Given the description of an element on the screen output the (x, y) to click on. 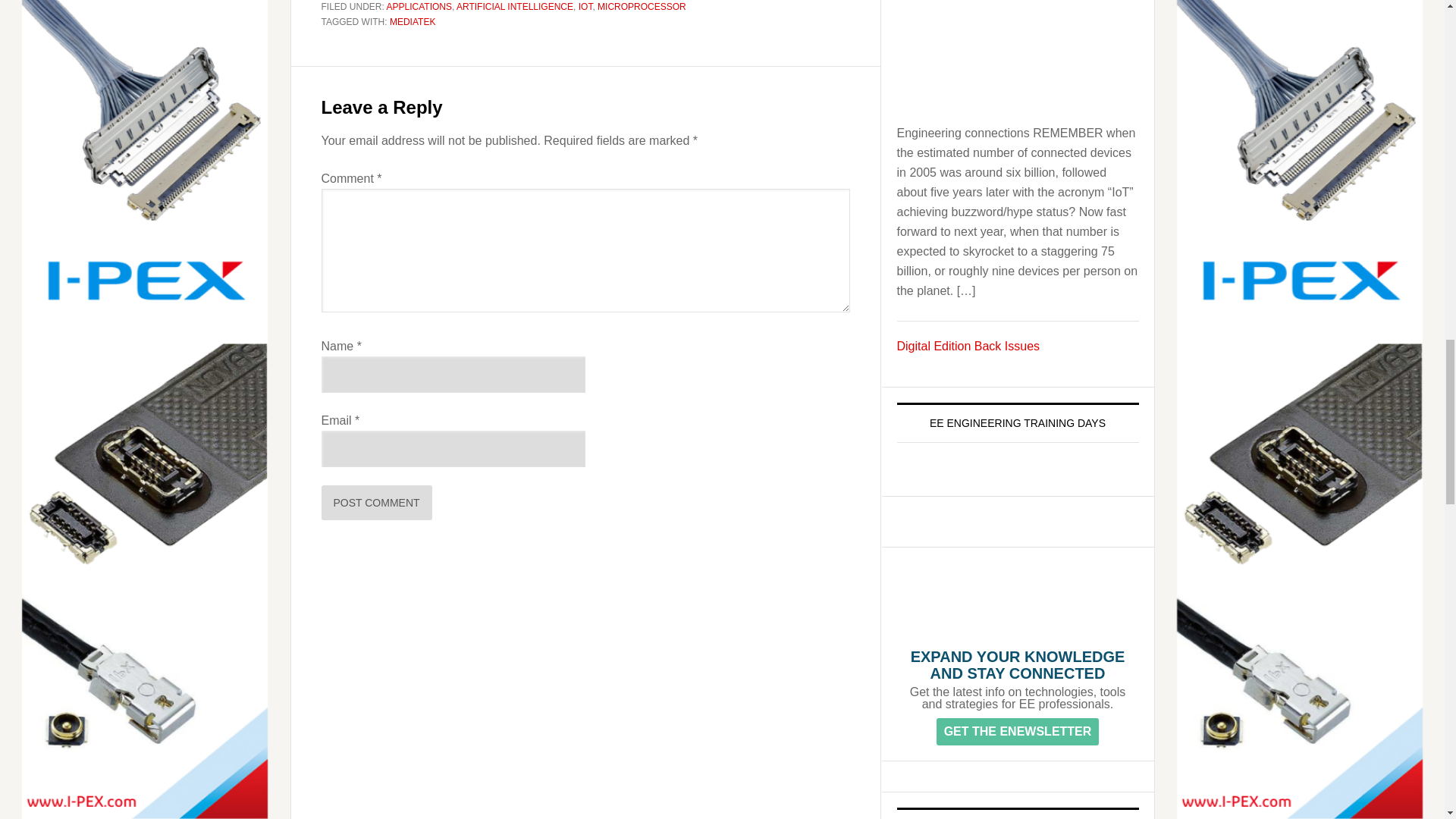
Post Comment (376, 502)
Digital Edition Back Issue (967, 345)
